Given the description of an element on the screen output the (x, y) to click on. 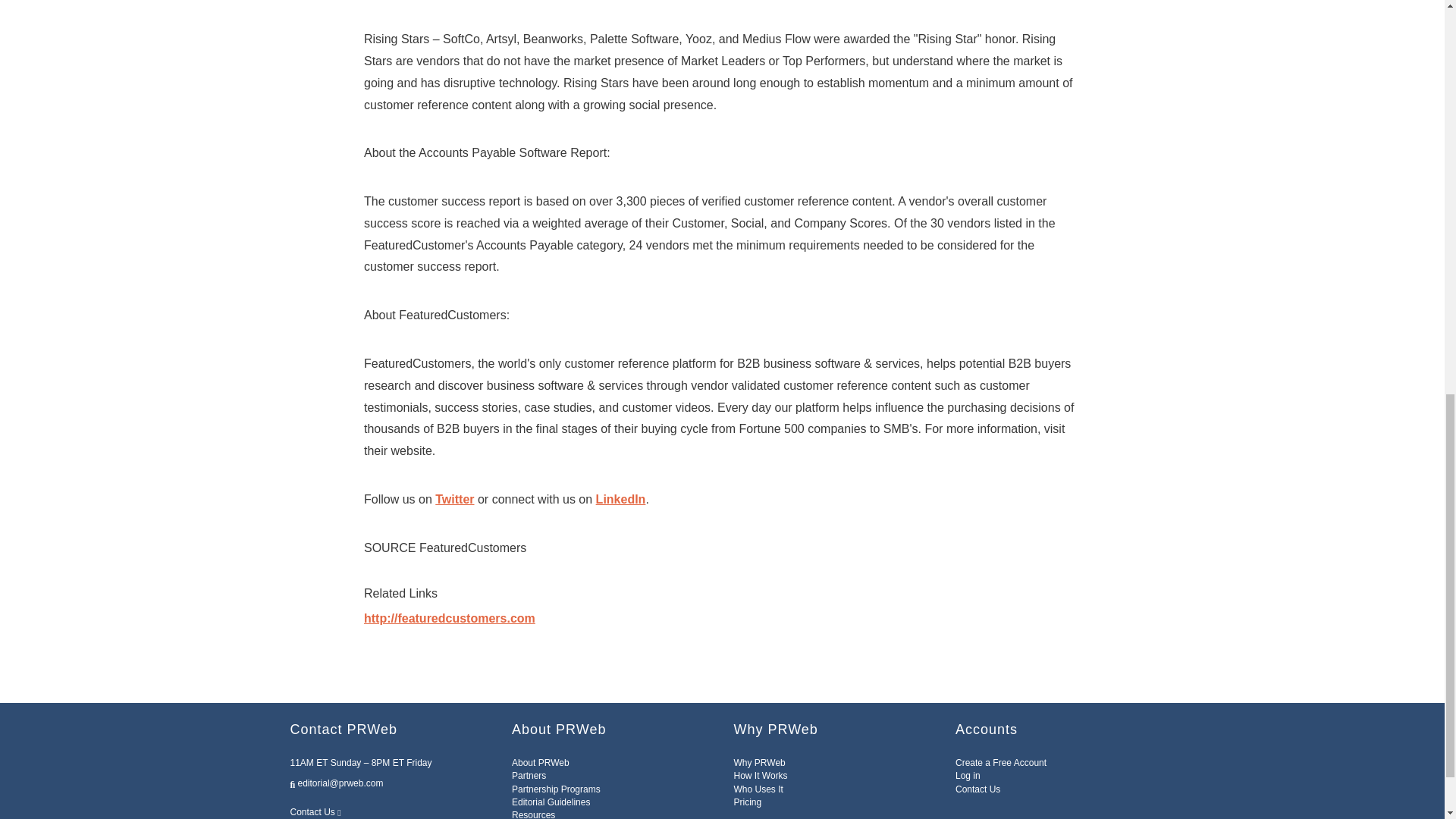
Why PRWeb (759, 762)
Editorial Guidelines (550, 801)
Resources (533, 814)
Partnership Programs (555, 788)
About PRWeb (540, 762)
Partners (529, 775)
